Given the description of an element on the screen output the (x, y) to click on. 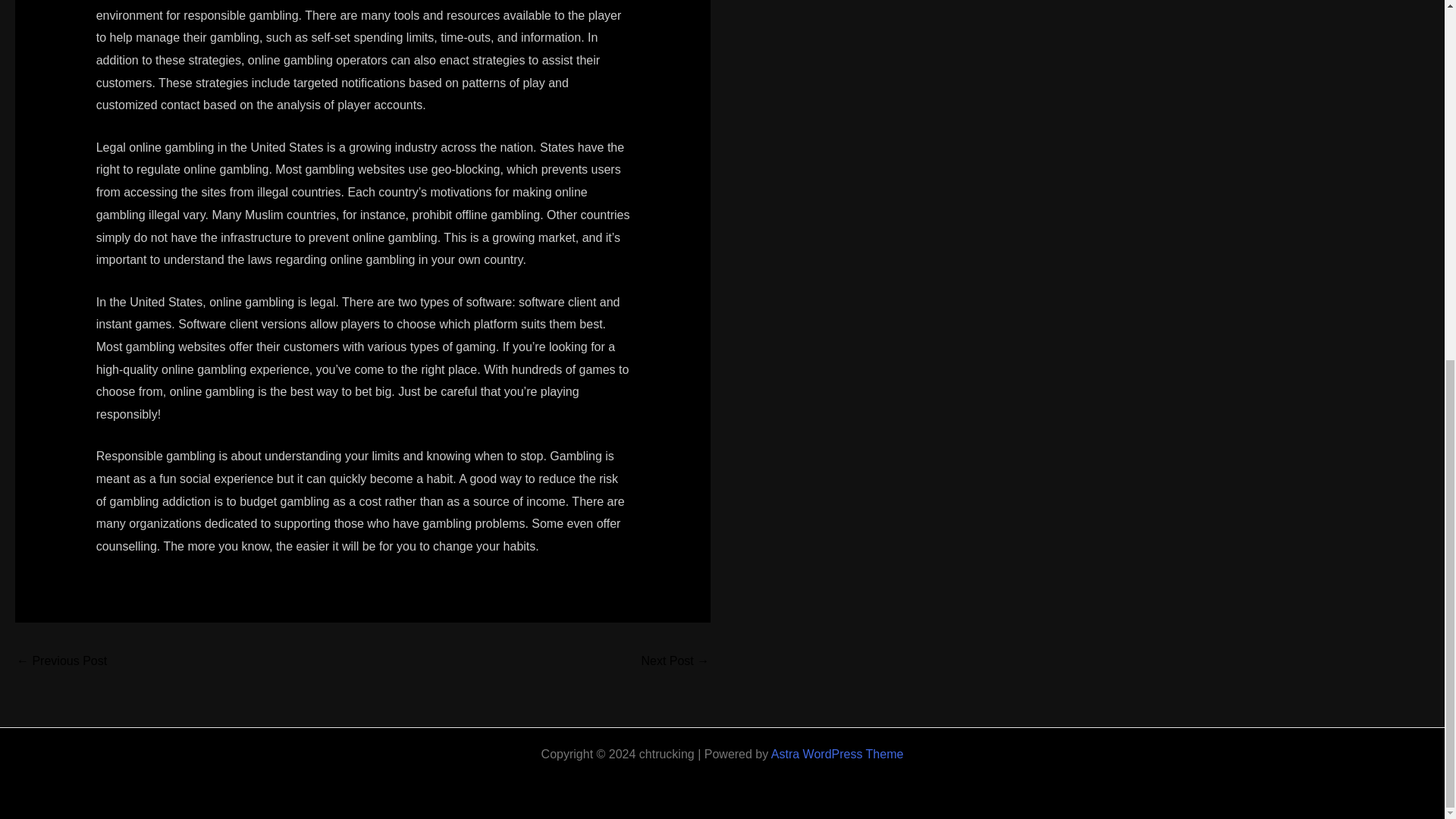
Choosing an Online Casino (674, 662)
Astra WordPress Theme (837, 753)
Playing the Online Lottery on Your Mobile Device (61, 662)
